Given the description of an element on the screen output the (x, y) to click on. 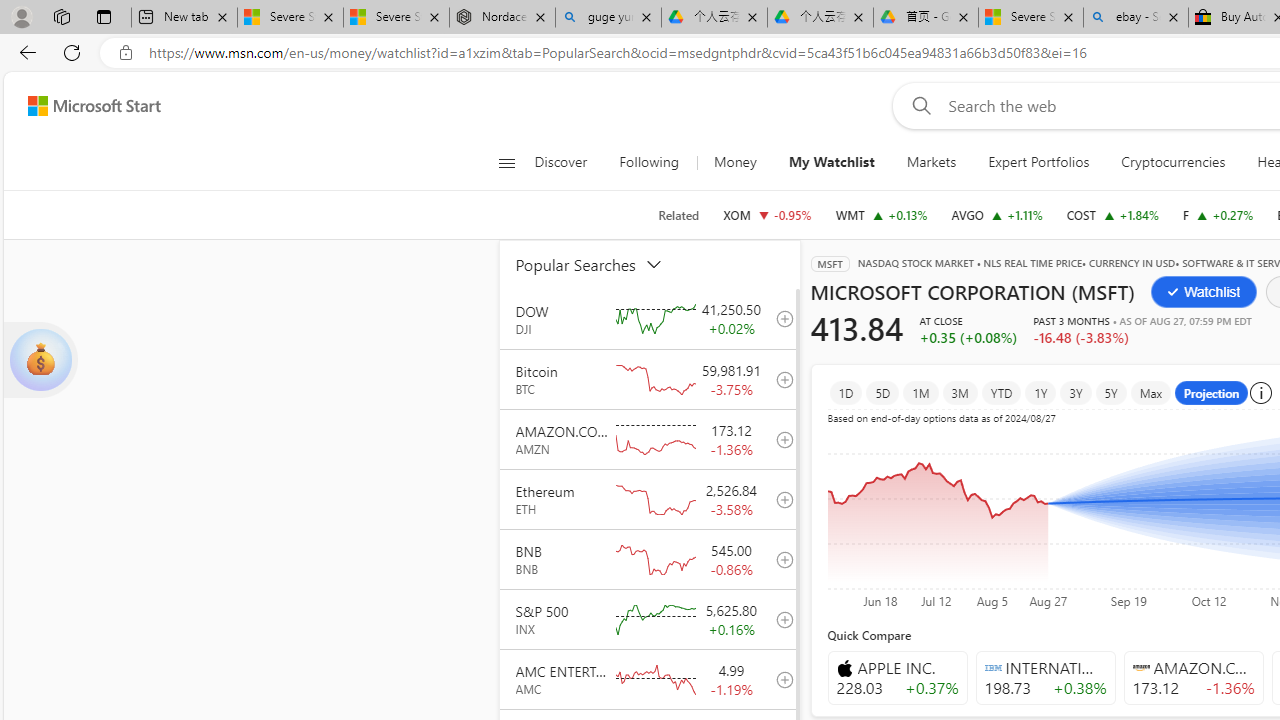
Web search (917, 105)
1D (845, 392)
Expert Portfolios (1038, 162)
Open navigation menu (506, 162)
WMT WALMART INC. increase 76.13 +0.10 +0.13% (881, 214)
1Y (1041, 392)
Class: button-glyph (505, 162)
